Given the description of an element on the screen output the (x, y) to click on. 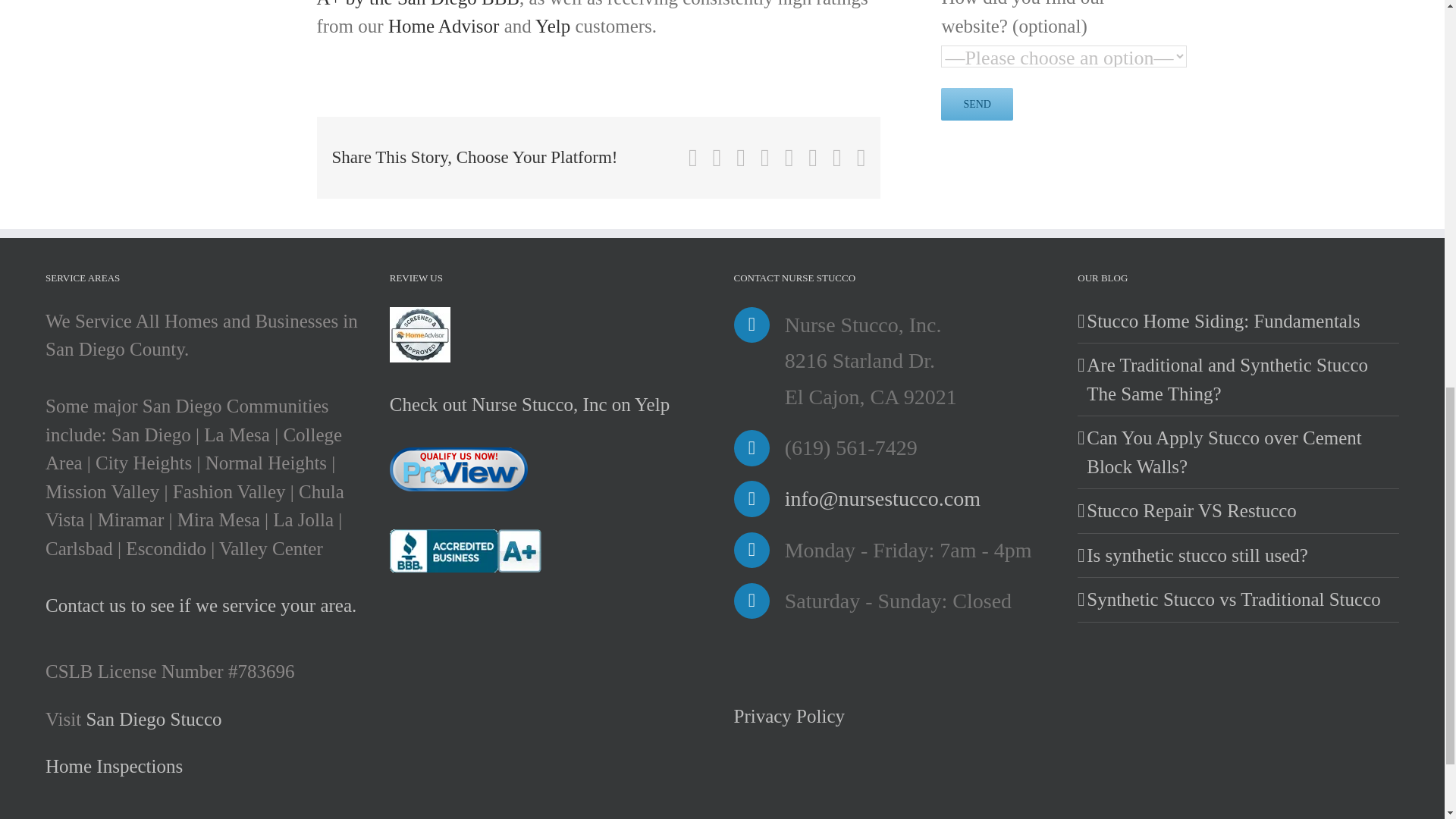
Home Advisor (443, 25)
Send (976, 103)
Qualify Us Now! ProView (458, 469)
Yelp (552, 25)
Send (976, 103)
